Given the description of an element on the screen output the (x, y) to click on. 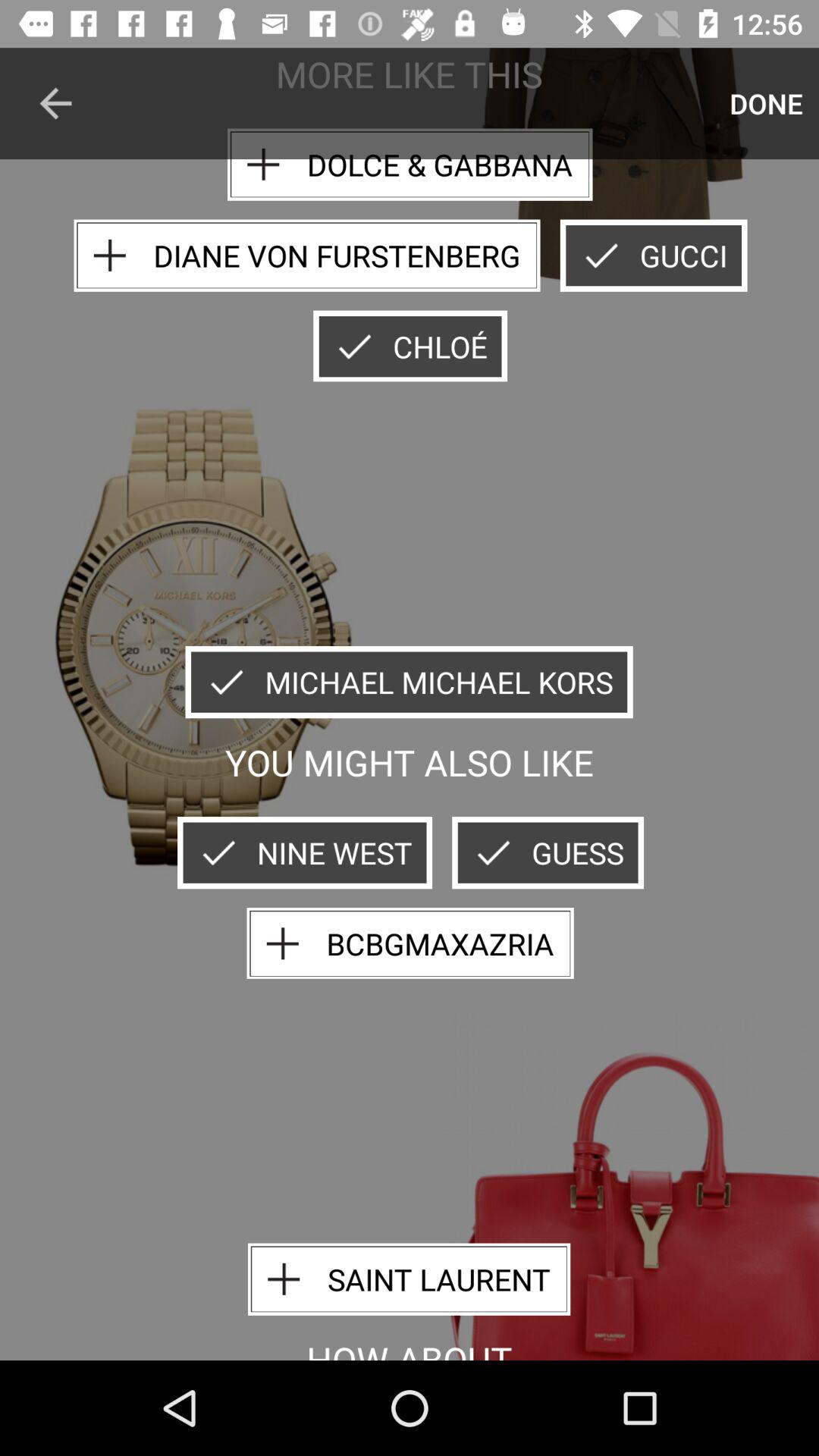
jump until the nine west (304, 852)
